Given the description of an element on the screen output the (x, y) to click on. 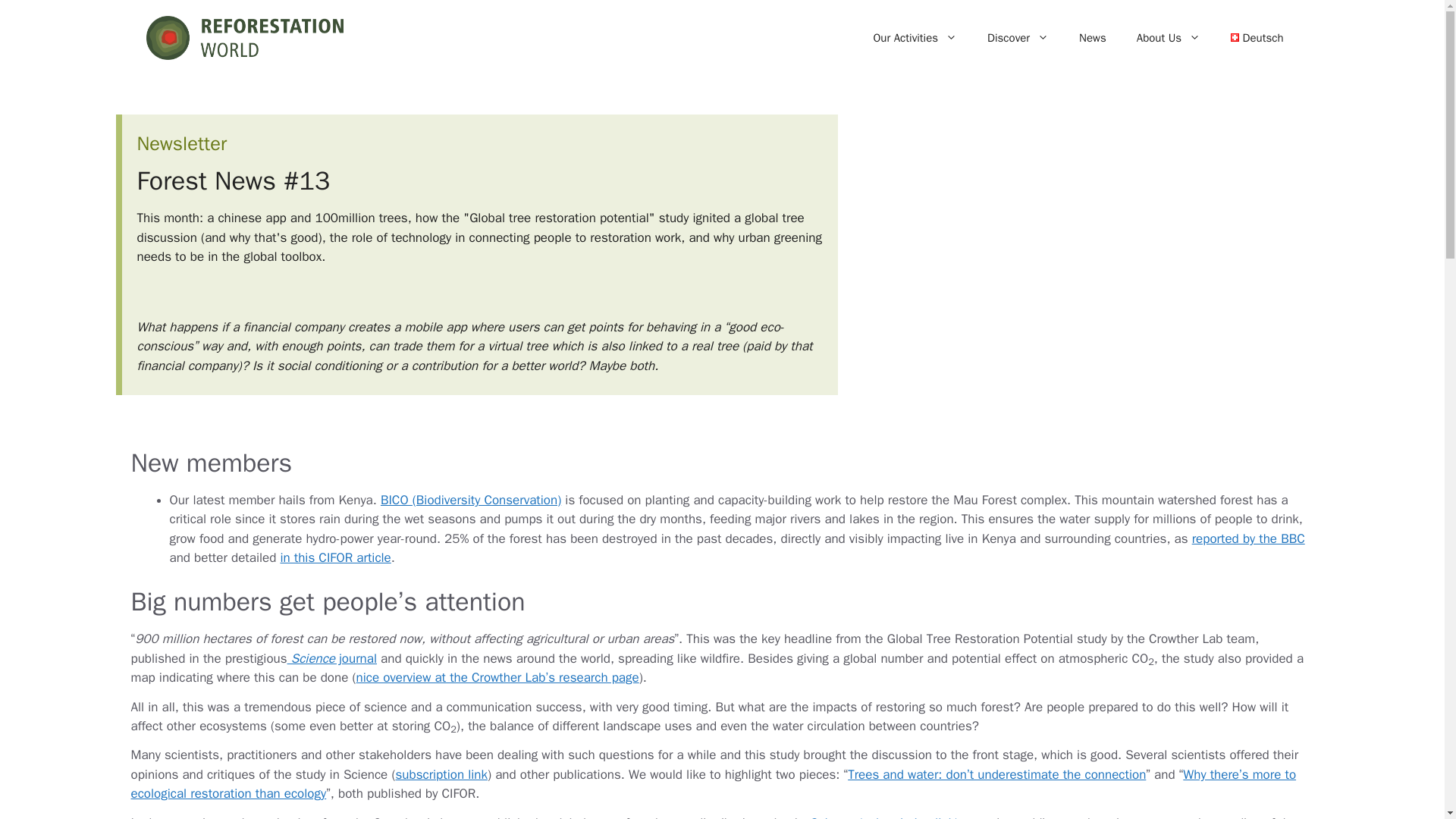
About Us (1168, 37)
The Chinese Gaming App That Lets Users Plant Real Trees (1089, 250)
News (1092, 37)
Deutsch (1256, 37)
Discover (1018, 37)
Our Activities (914, 37)
